Given the description of an element on the screen output the (x, y) to click on. 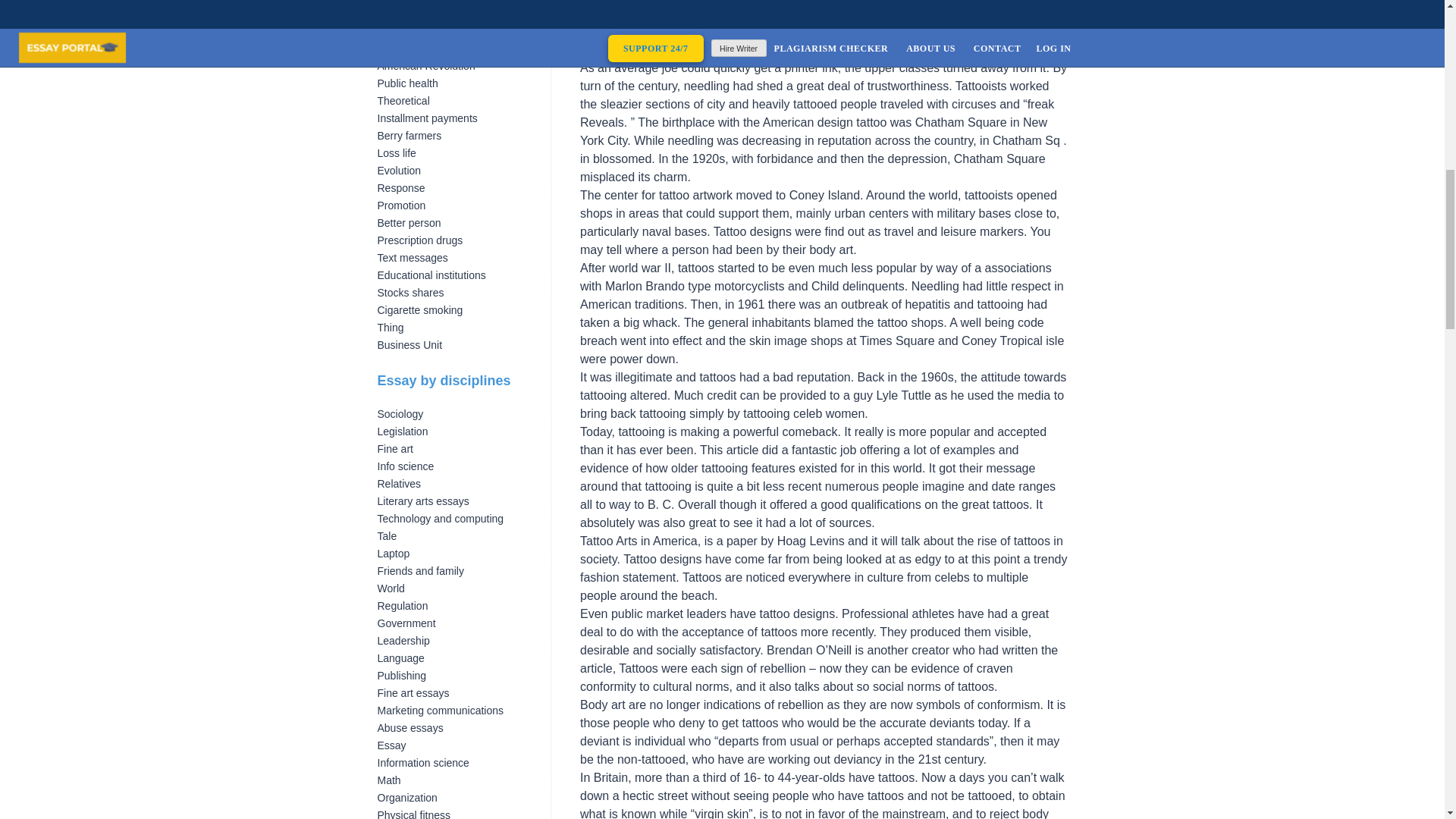
Back button (405, 13)
Abraham Maslow (418, 1)
